Given the description of an element on the screen output the (x, y) to click on. 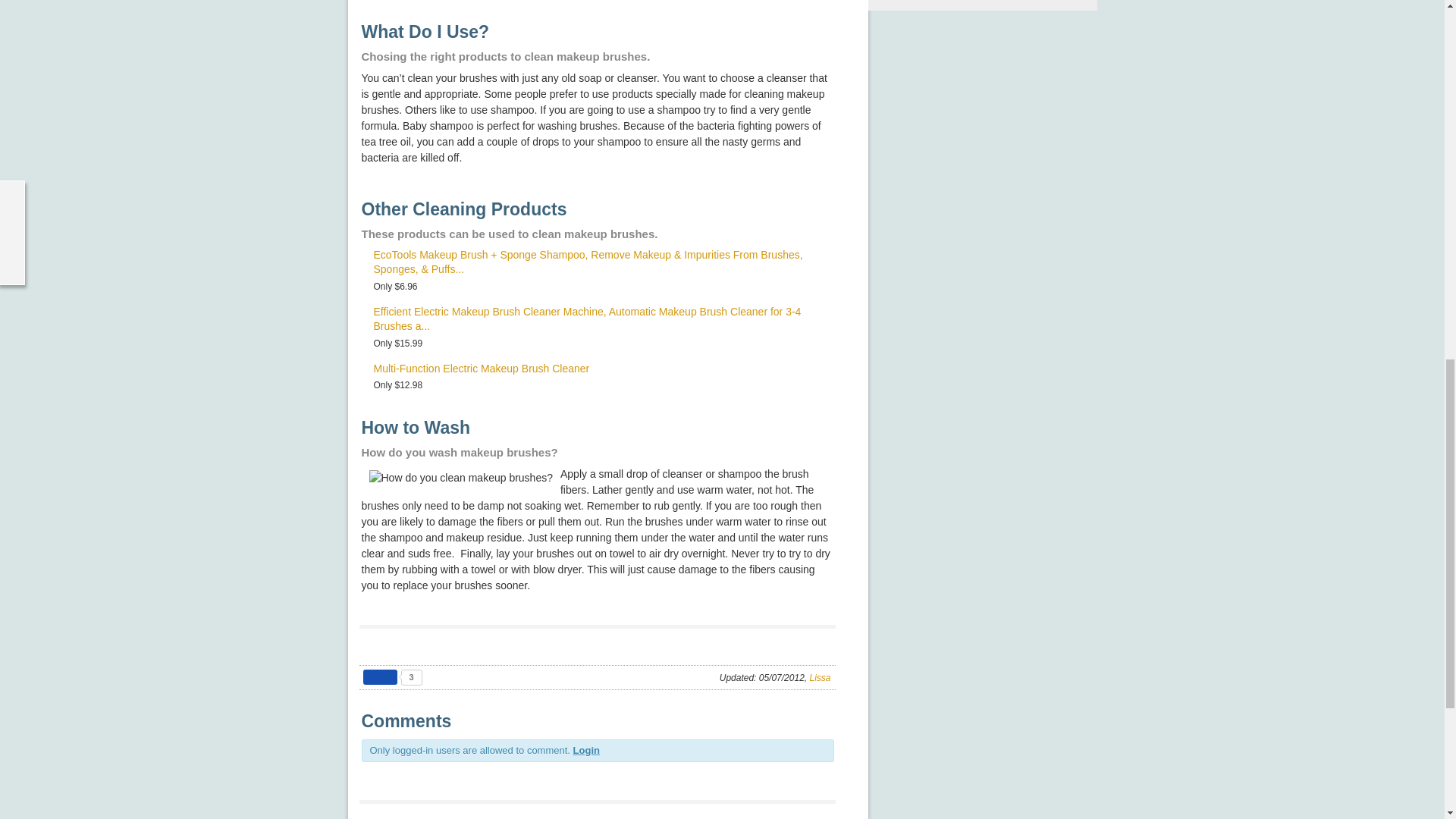
Multi-Function Electric Makeup Brush Cleaner (480, 368)
How do you clean makeup brushes? (459, 478)
Login (586, 749)
Lissa (819, 677)
